Given the description of an element on the screen output the (x, y) to click on. 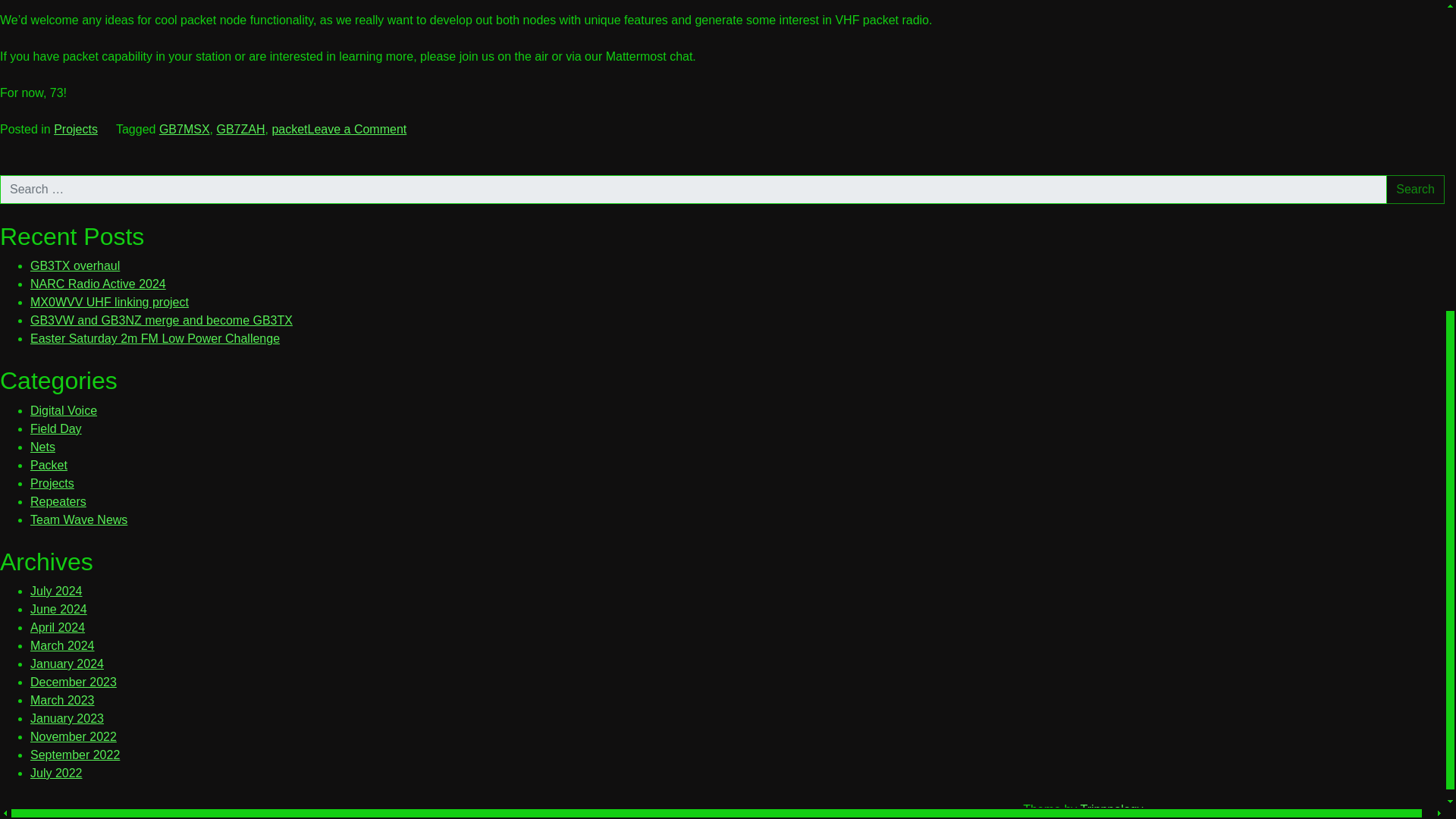
Field Day (55, 428)
Repeaters (57, 501)
Search for: (693, 189)
Easter Saturday 2m FM Low Power Challenge (154, 338)
Nets (42, 446)
Packet (48, 464)
Search (1415, 189)
MX0WVV UHF linking project (109, 301)
Digital Voice (63, 410)
Projects (75, 128)
